Given the description of an element on the screen output the (x, y) to click on. 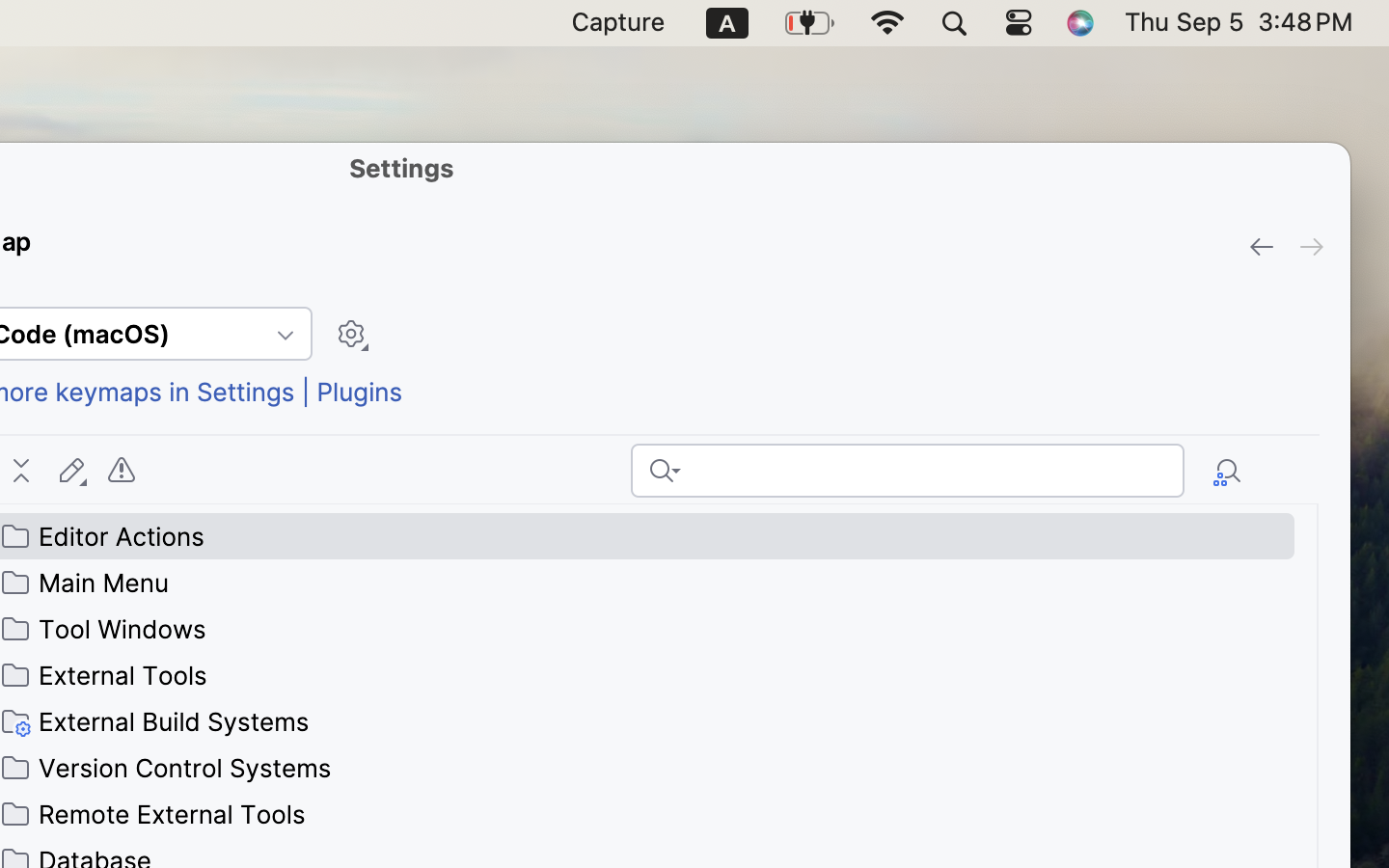
Settings Element type: AXStaticText (402, 167)
